Given the description of an element on the screen output the (x, y) to click on. 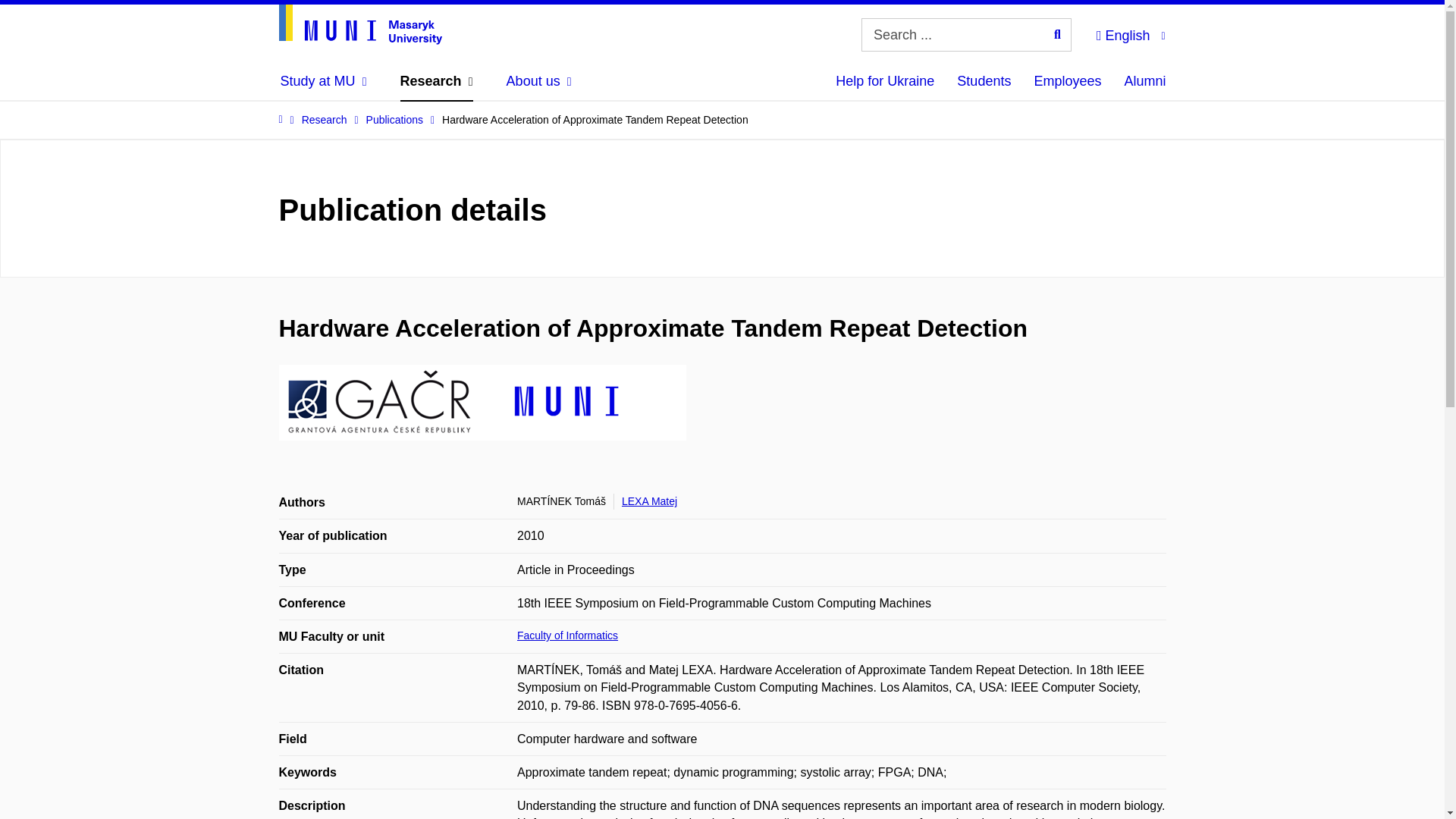
Research (436, 80)
English (1130, 34)
Study at MU (323, 80)
Homepage site (360, 24)
